Given the description of an element on the screen output the (x, y) to click on. 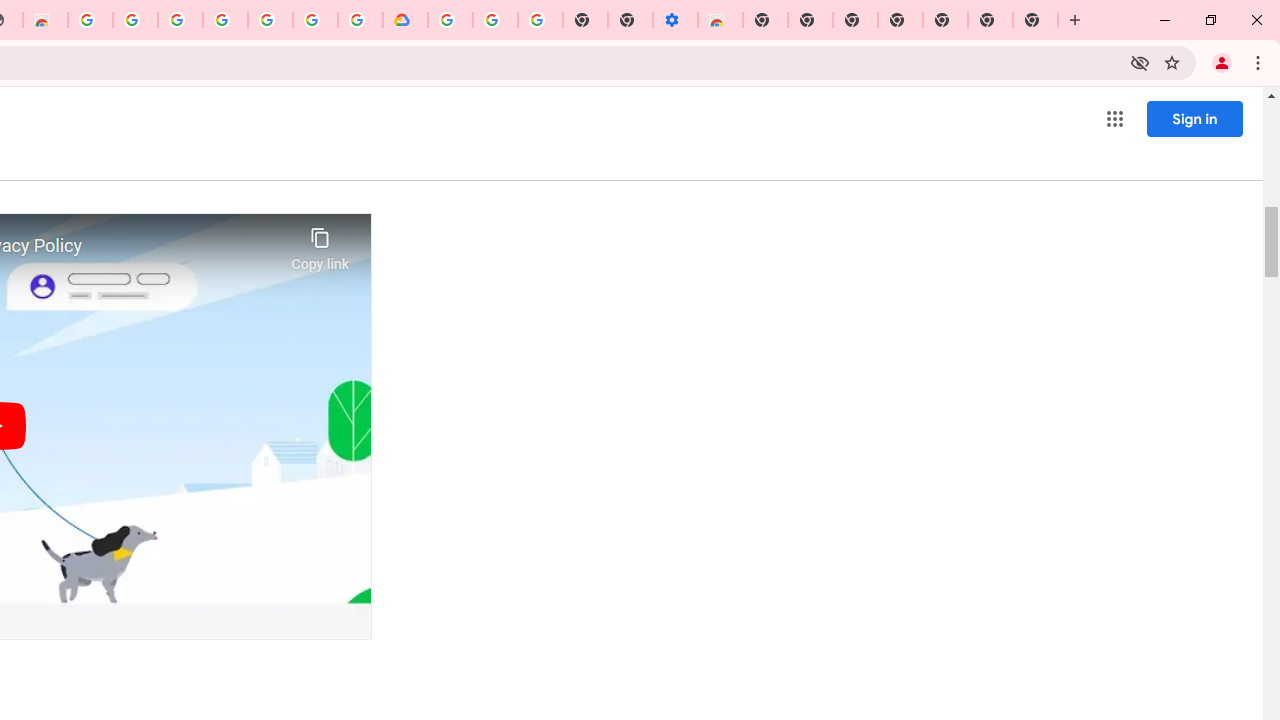
Google apps (1114, 118)
Sign in - Google Accounts (450, 20)
Ad Settings (134, 20)
New Tab (1035, 20)
Chrome Web Store - Household (45, 20)
Sign in - Google Accounts (315, 20)
Settings - Accessibility (674, 20)
Third-party cookies blocked (1139, 62)
